Given the description of an element on the screen output the (x, y) to click on. 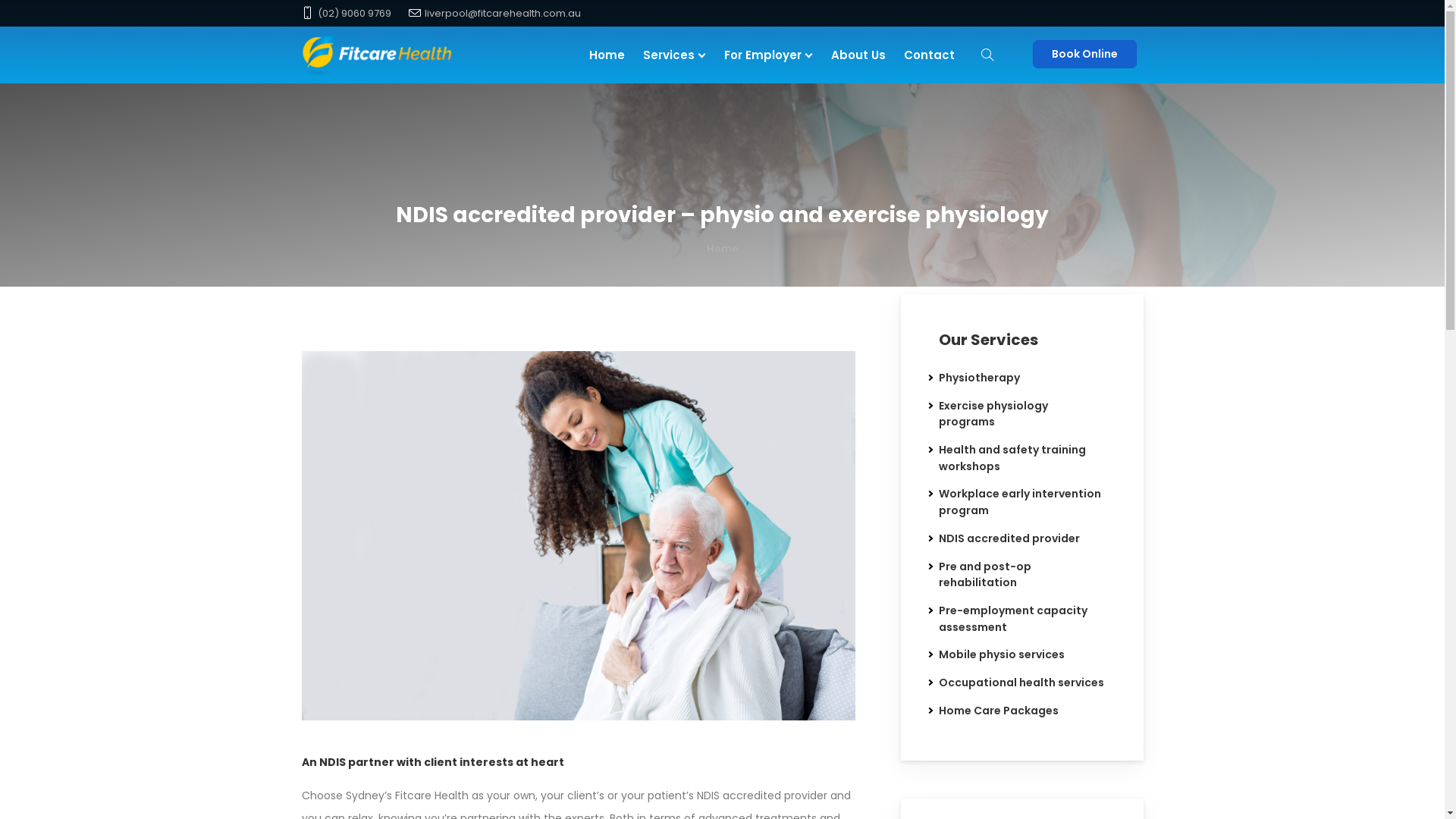
Workplace early intervention program Element type: text (1019, 501)
Occupational health services Element type: text (1021, 682)
Home Care Packages Element type: text (998, 710)
liverpool@fitcarehealth.com.au Element type: text (502, 13)
Book Online Element type: text (1083, 53)
Pre-employment capacity assessment Element type: text (1012, 618)
Health and safety training workshops Element type: text (1011, 457)
Home Element type: text (721, 248)
Mobile physio services Element type: text (1001, 654)
Pre and post-op rehabilitation Element type: text (984, 573)
(02) 9060 9769 Element type: text (353, 13)
NDIS accredited provider Element type: text (1008, 538)
Exercise physiology programs Element type: text (993, 413)
Physiotherapy Element type: text (978, 377)
